Given the description of an element on the screen output the (x, y) to click on. 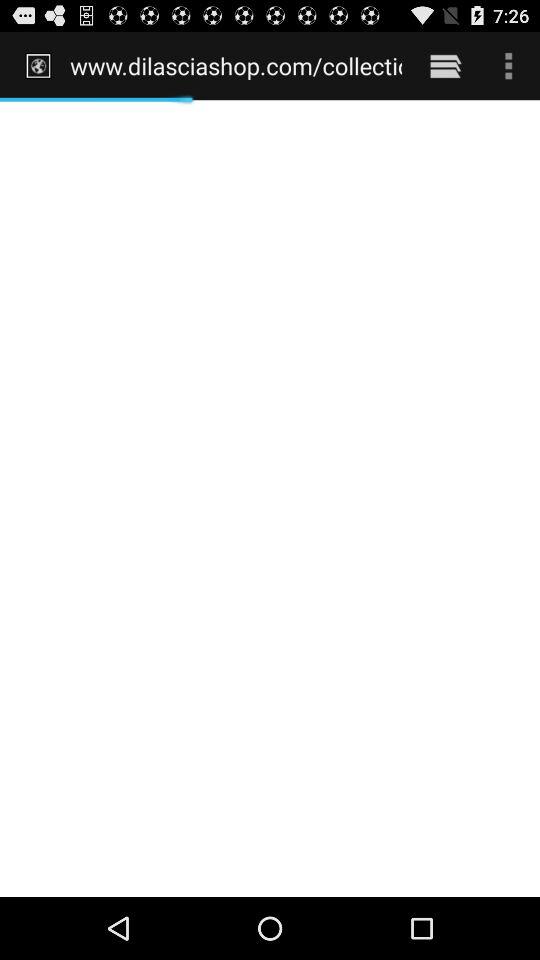
jump to the www dilasciashop com item (235, 65)
